Given the description of an element on the screen output the (x, y) to click on. 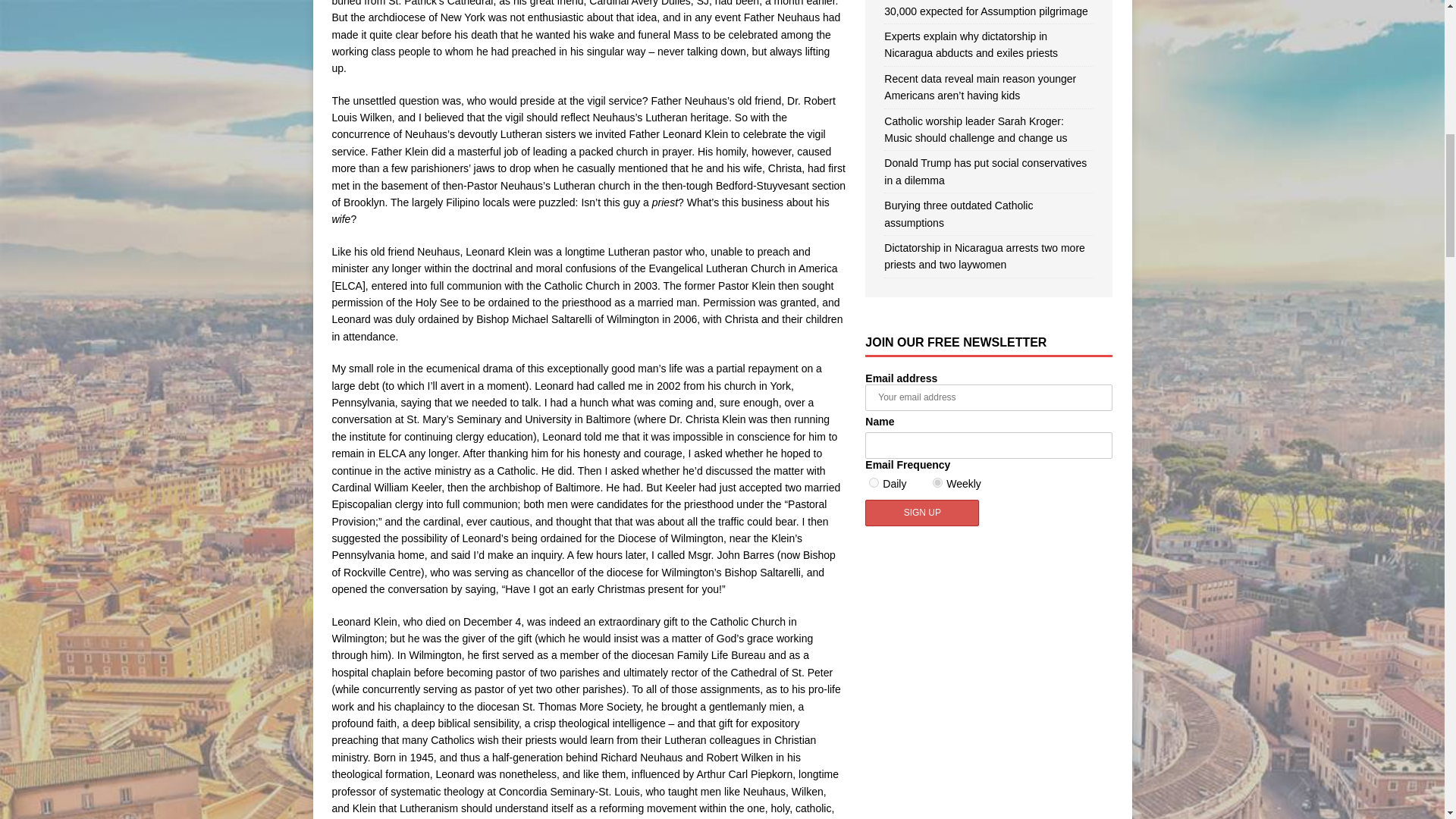
bef84f4b50 (937, 482)
Sign up (921, 512)
63bd12237f (874, 482)
